Given the description of an element on the screen output the (x, y) to click on. 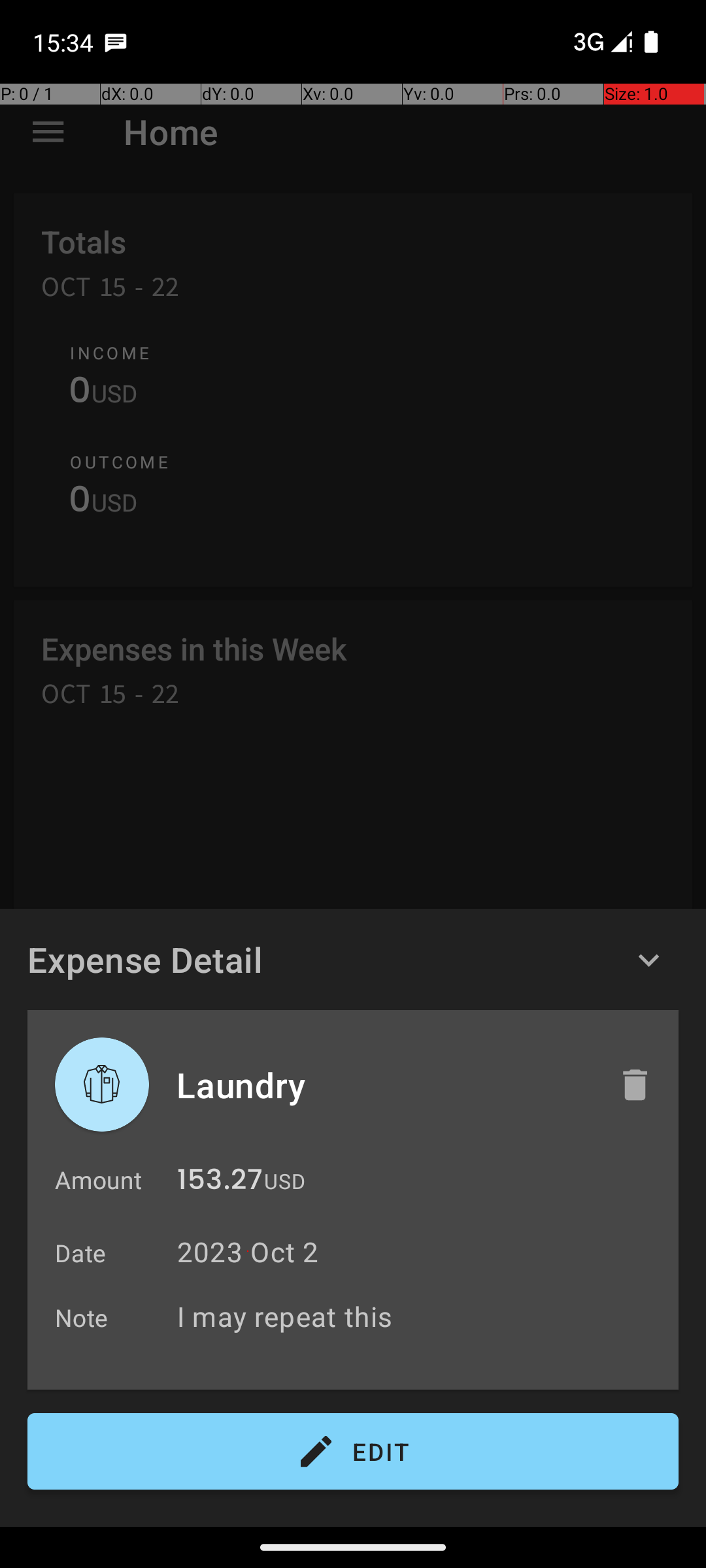
Laundry Element type: android.widget.TextView (383, 1084)
153.27 Element type: android.widget.TextView (219, 1182)
2023 Oct 2 Element type: android.widget.TextView (247, 1251)
